Given the description of an element on the screen output the (x, y) to click on. 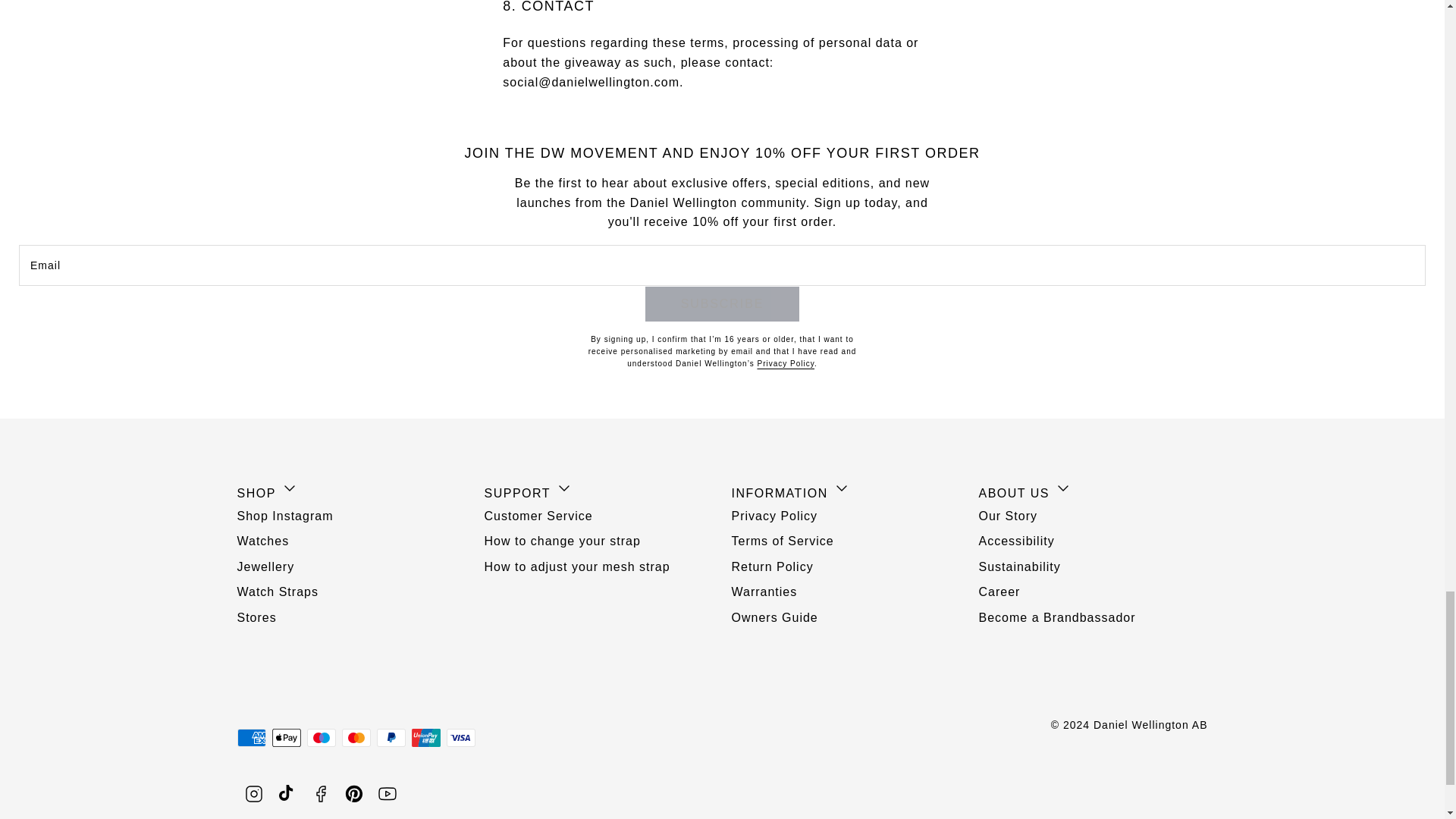
Maestro (319, 737)
Mastercard (354, 737)
American Express (249, 737)
Apple Pay (284, 737)
PayPal (389, 737)
